Given the description of an element on the screen output the (x, y) to click on. 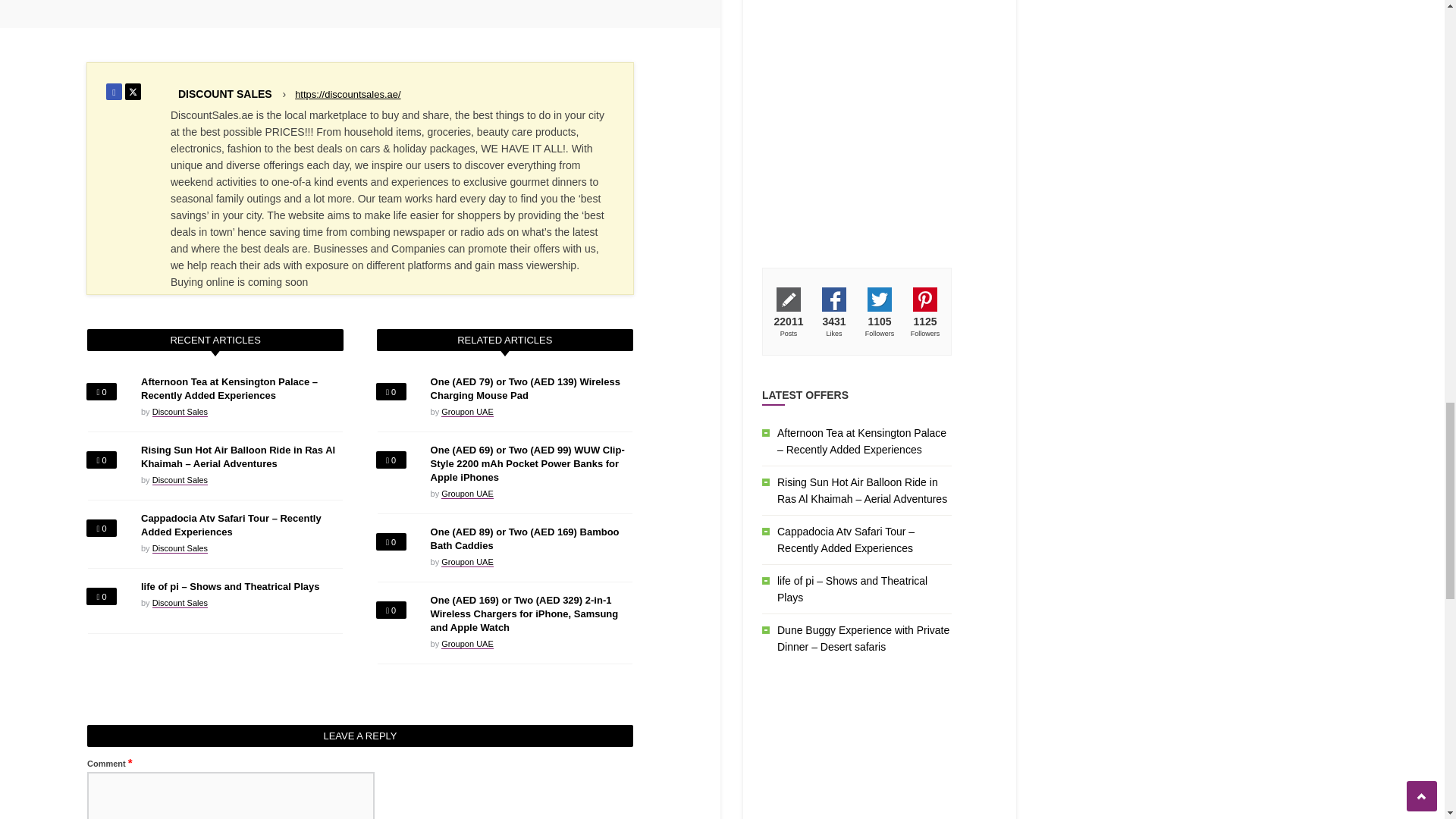
Posts by Discount Sales (180, 548)
Posts by Discount Sales (180, 603)
Posts by Groupon UAE (467, 493)
Posts by Groupon UAE (467, 562)
Posts by Discount Sales (224, 93)
Posts by Groupon UAE (467, 644)
Posts by Groupon UAE (467, 411)
Posts by Discount Sales (180, 480)
Posts by Discount Sales (180, 411)
